Given the description of an element on the screen output the (x, y) to click on. 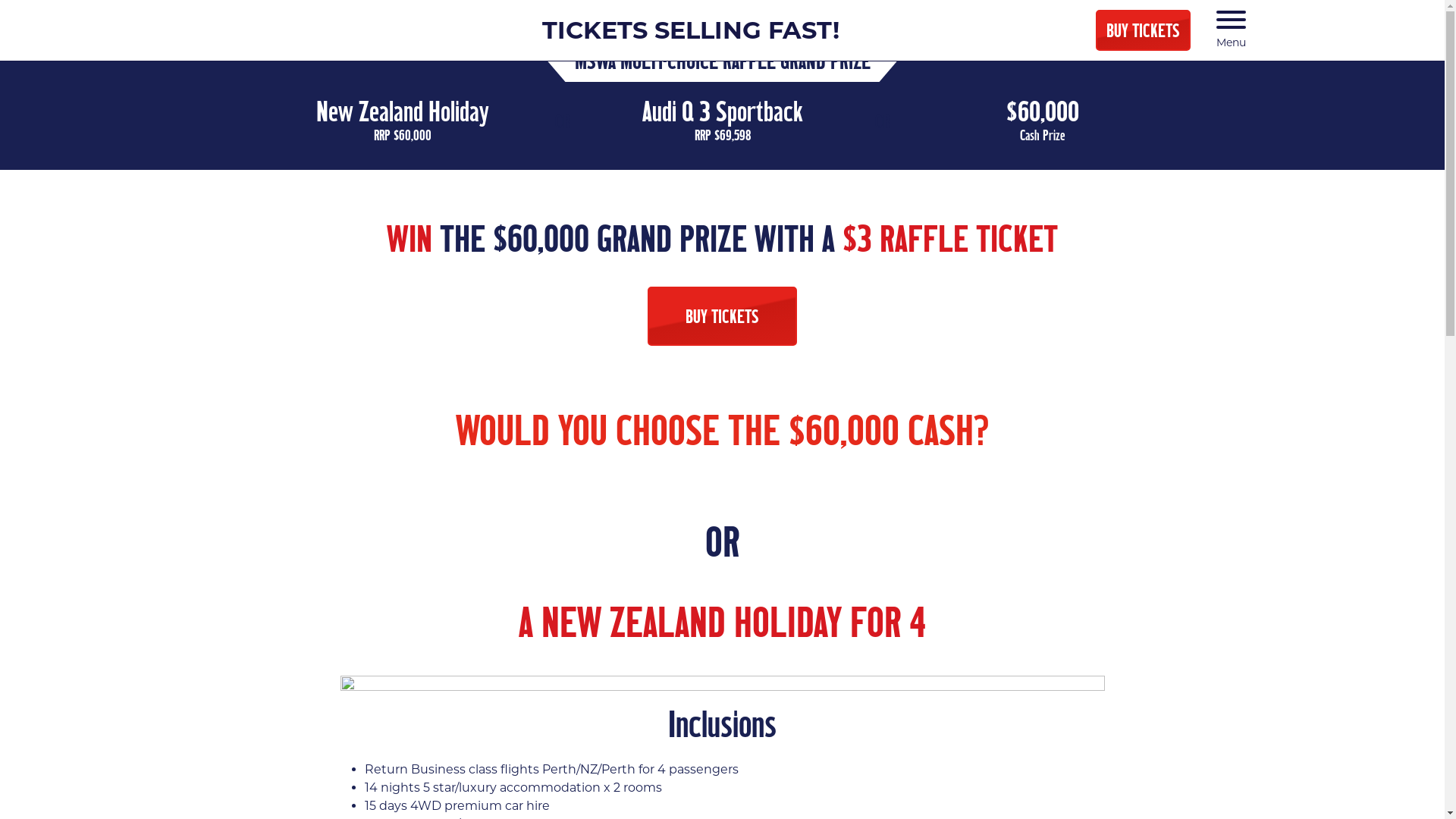
BUY TICKETS Element type: text (722, 315)
BUY TICKETS Element type: text (1142, 29)
TICKETS SELLING FAST! Element type: text (690, 30)
Menu Element type: text (1230, 30)
